Given the description of an element on the screen output the (x, y) to click on. 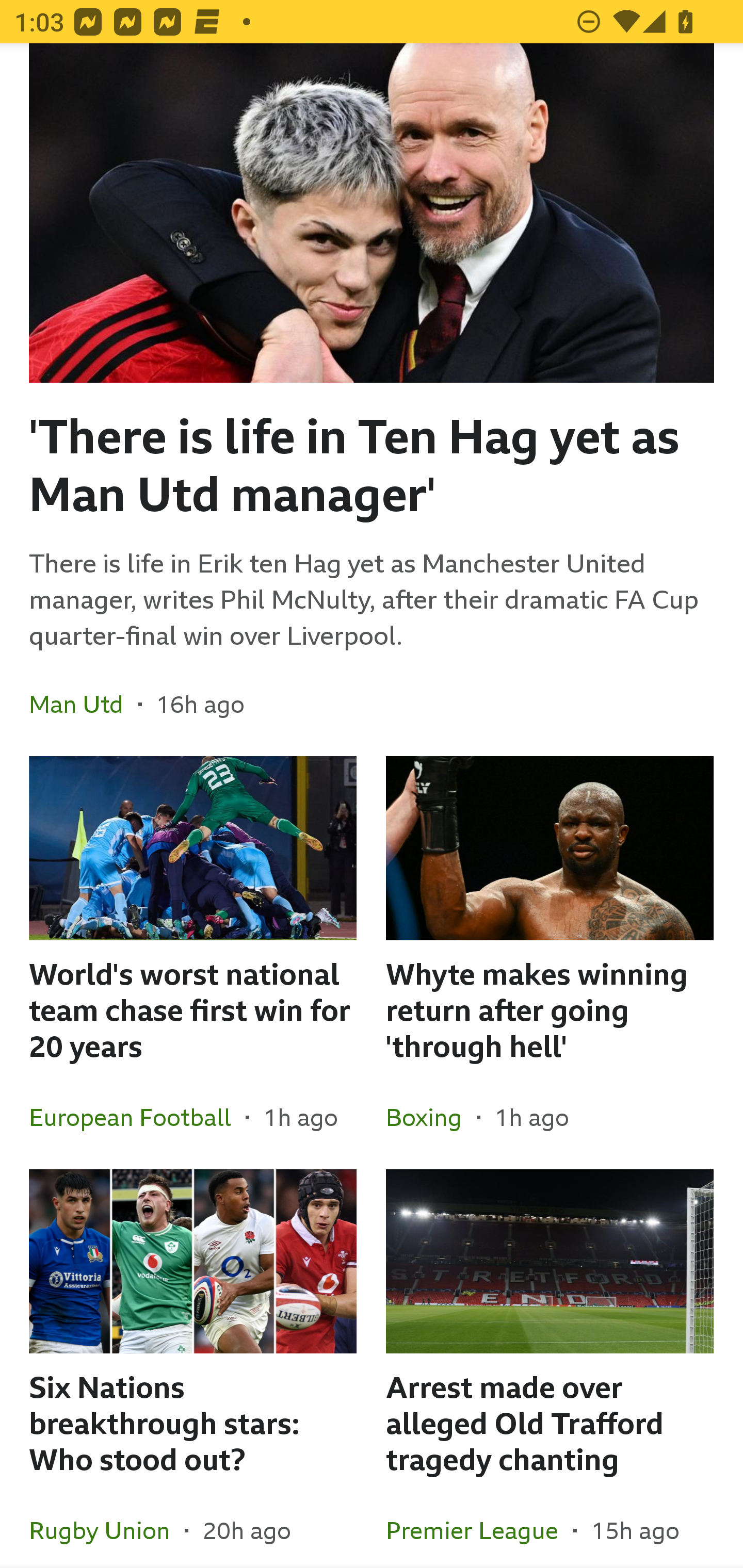
Man Utd In the section Man Utd (83, 703)
European Football In the section European Football (136, 1116)
Boxing In the section Boxing (431, 1116)
Rugby Union In the section Rugby Union (106, 1523)
Premier League In the section Premier League (479, 1523)
